Given the description of an element on the screen output the (x, y) to click on. 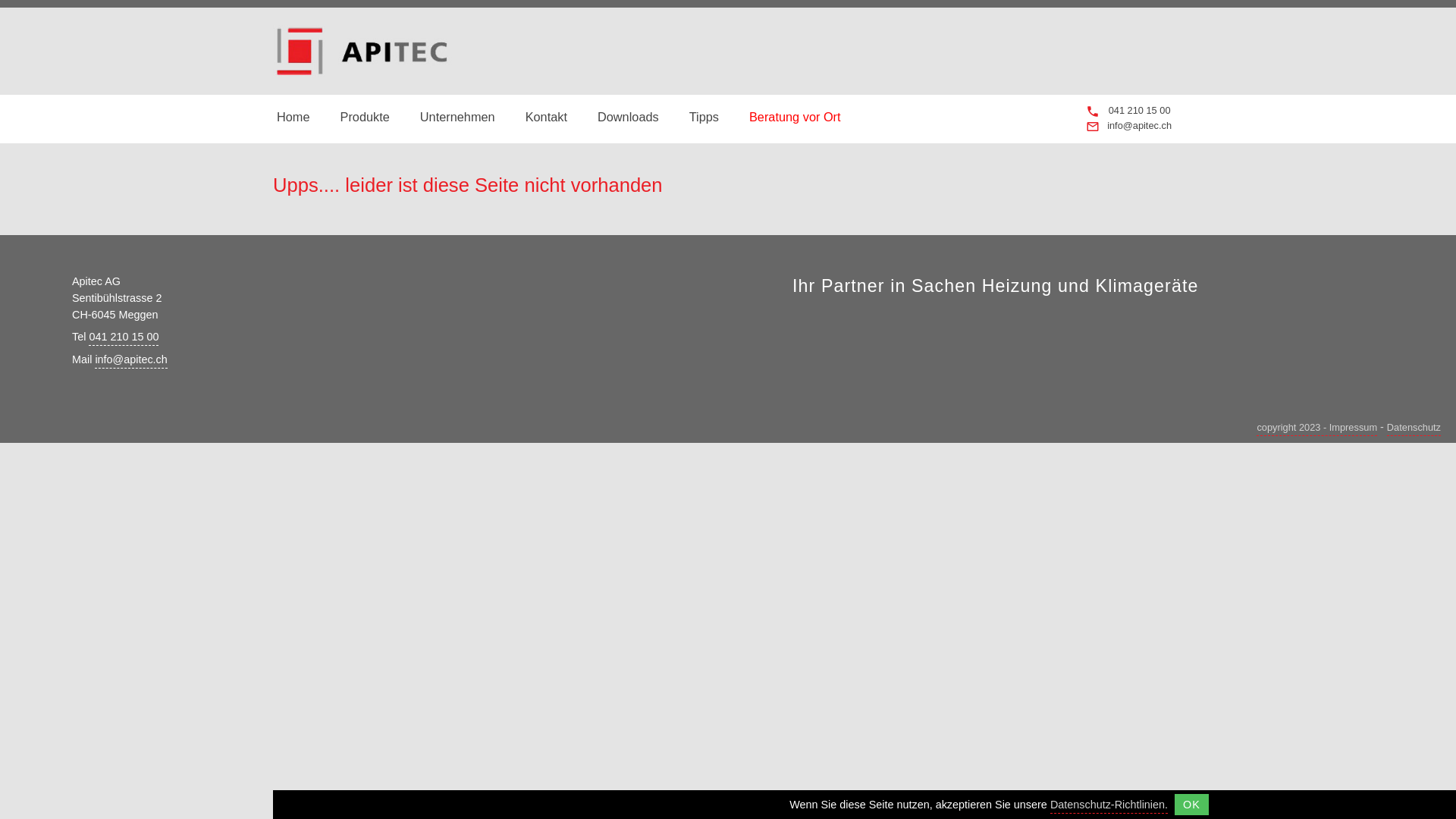
Beratung vor Ort Element type: text (795, 116)
Tipps Element type: text (704, 116)
Downloads Element type: text (628, 116)
info@apitec.ch Element type: text (130, 360)
041 210 15 00 Element type: text (123, 337)
Kontakt Element type: text (546, 116)
OK Element type: text (1191, 804)
Unternehmen Element type: text (457, 116)
Produkte Element type: text (364, 116)
Datenschutz Element type: text (1413, 428)
Home Element type: text (293, 116)
Datenschutz-Richtlinien. Element type: text (1108, 805)
copyright 2023 - Impressum Element type: text (1316, 428)
